Given the description of an element on the screen output the (x, y) to click on. 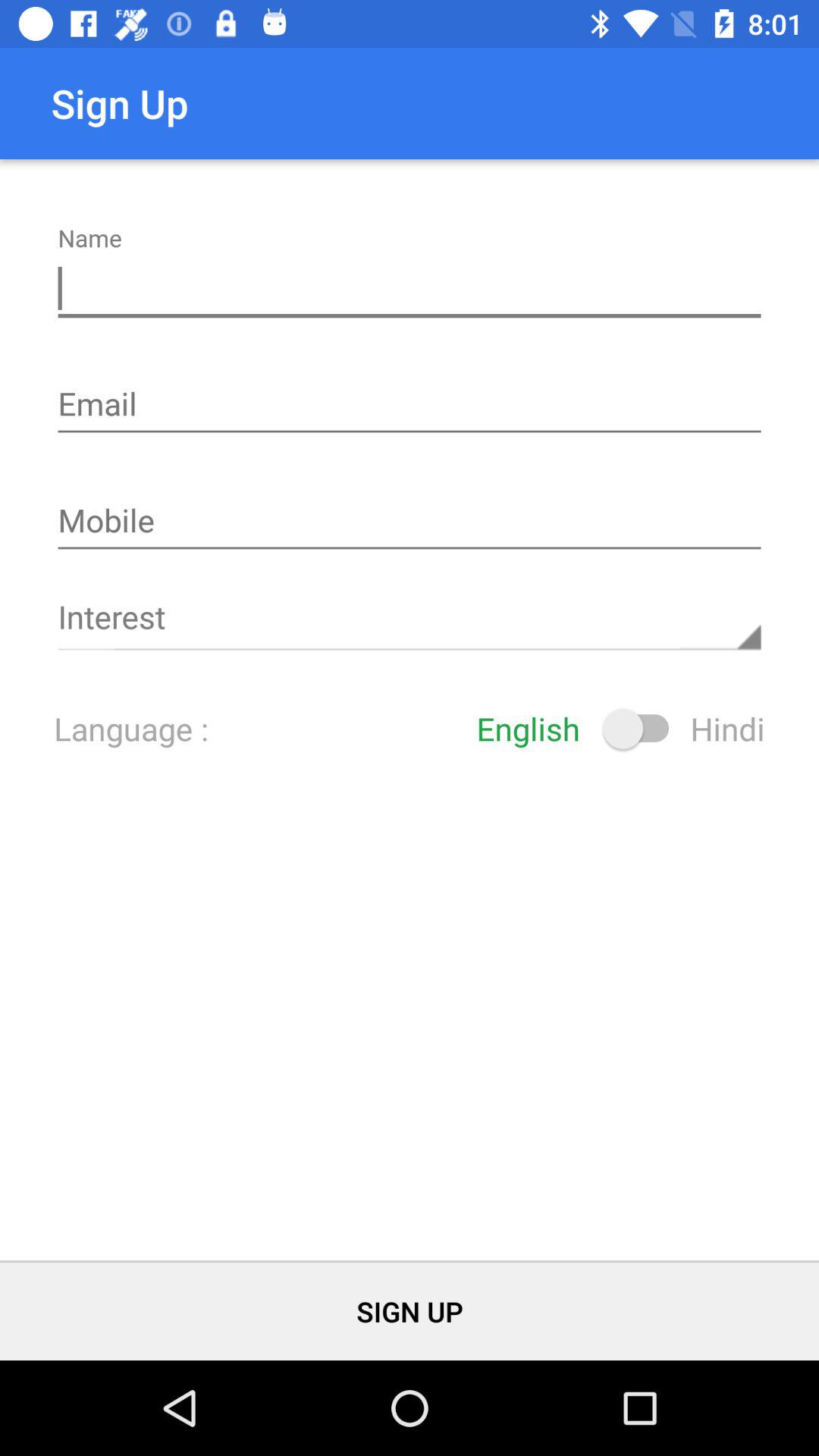
space to write email (409, 405)
